Given the description of an element on the screen output the (x, y) to click on. 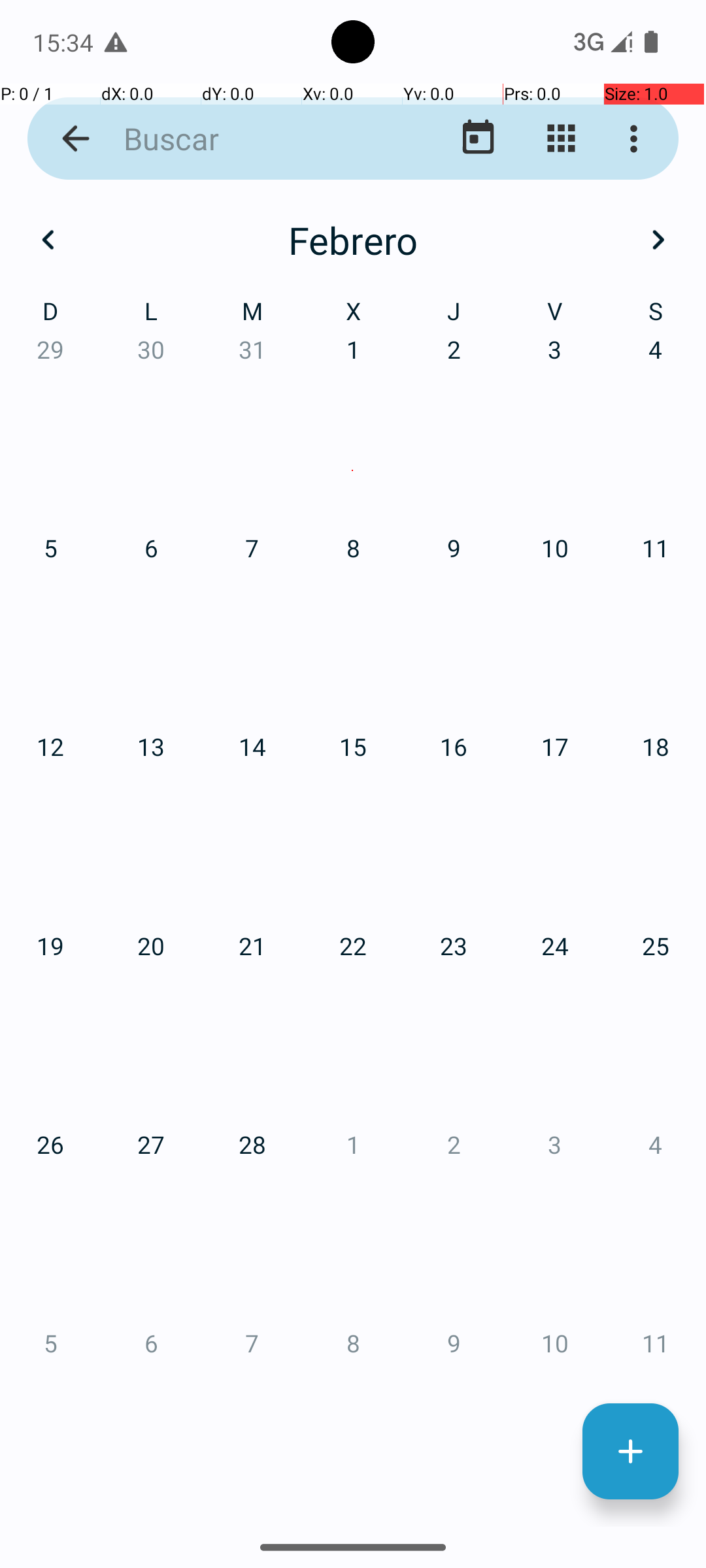
Buscar Element type: android.widget.EditText (252, 138)
Ir al día de hoy Element type: android.widget.Button (477, 138)
Cambiar vista Element type: android.widget.Button (560, 138)
Nuevo evento Element type: android.widget.ImageButton (630, 1451)
ENERO Element type: android.widget.TextView (123, 319)
FEBRERO Element type: android.widget.TextView (352, 319)
MARZO Element type: android.widget.TextView (582, 319)
ABRIL Element type: android.widget.TextView (123, 621)
MAYO Element type: android.widget.TextView (352, 621)
JUNIO Element type: android.widget.TextView (582, 621)
JULIO Element type: android.widget.TextView (123, 923)
AGOSTO Element type: android.widget.TextView (352, 923)
SEPTIEMBRE Element type: android.widget.TextView (582, 923)
OCTUBRE Element type: android.widget.TextView (123, 1224)
NOVIEMBRE Element type: android.widget.TextView (352, 1224)
DICIEMBRE Element type: android.widget.TextView (582, 1224)
Febrero Element type: android.widget.TextView (352, 239)
